Given the description of an element on the screen output the (x, y) to click on. 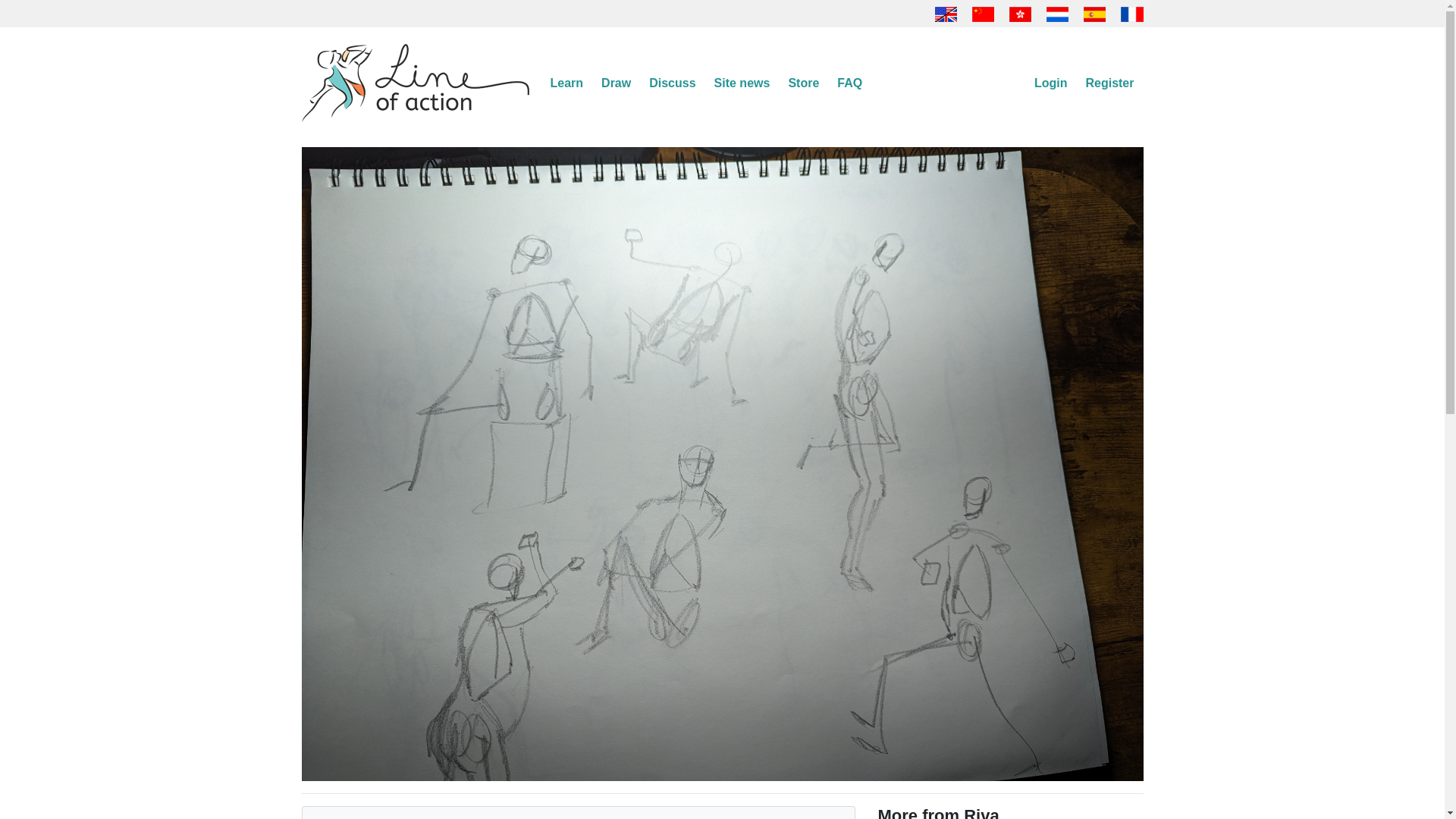
Discuss (672, 83)
Draw (616, 83)
Nederlands (1057, 12)
English (946, 12)
Learn (566, 83)
Store (803, 83)
Site news (741, 83)
